Given the description of an element on the screen output the (x, y) to click on. 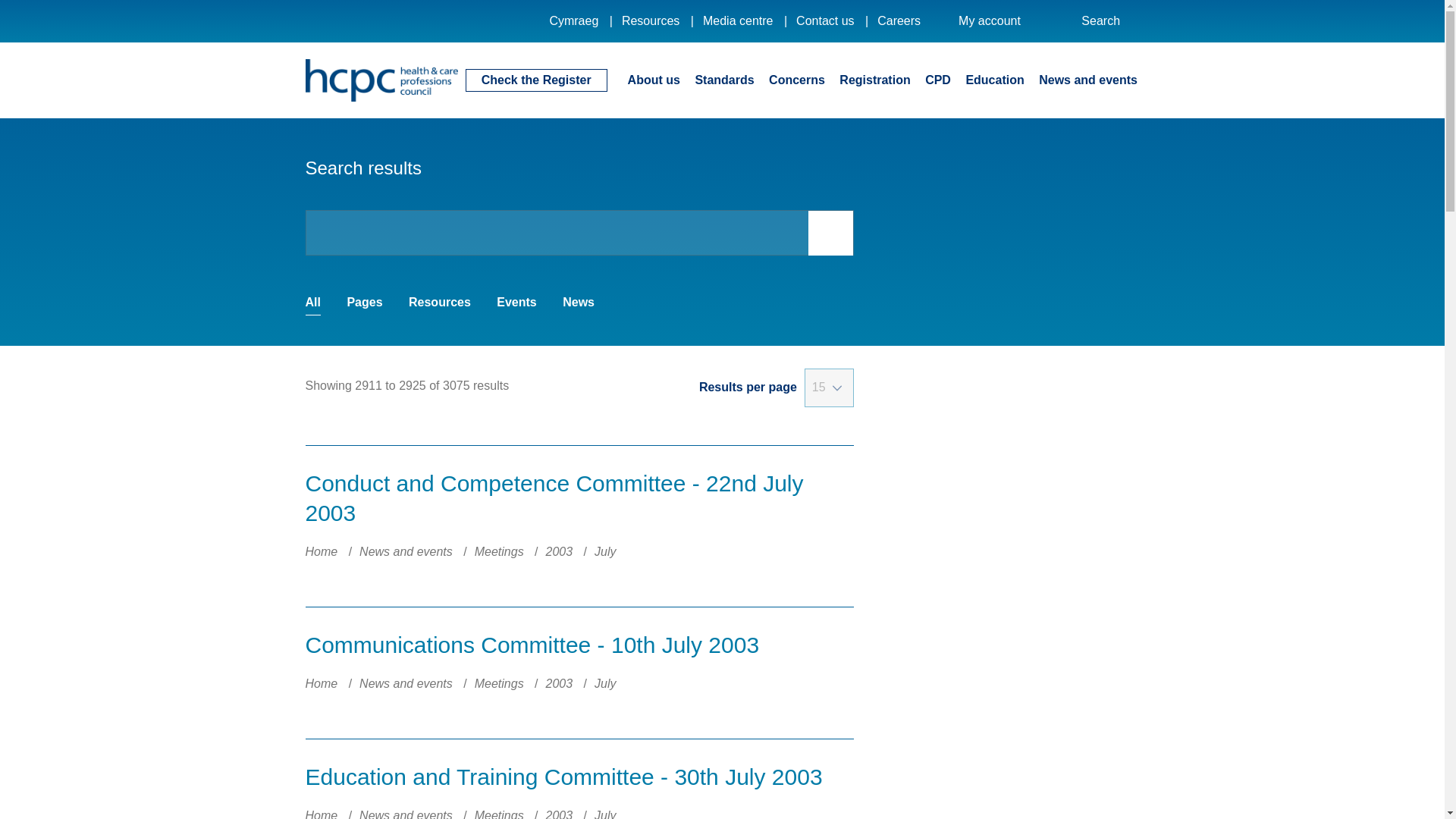
Concerns (797, 79)
Cymraeg (573, 20)
Media centre (738, 20)
Contact us (824, 20)
Careers (898, 20)
My account (1000, 21)
Resources (650, 20)
About us (653, 79)
Check the Register (536, 79)
Search (1109, 21)
